Given the description of an element on the screen output the (x, y) to click on. 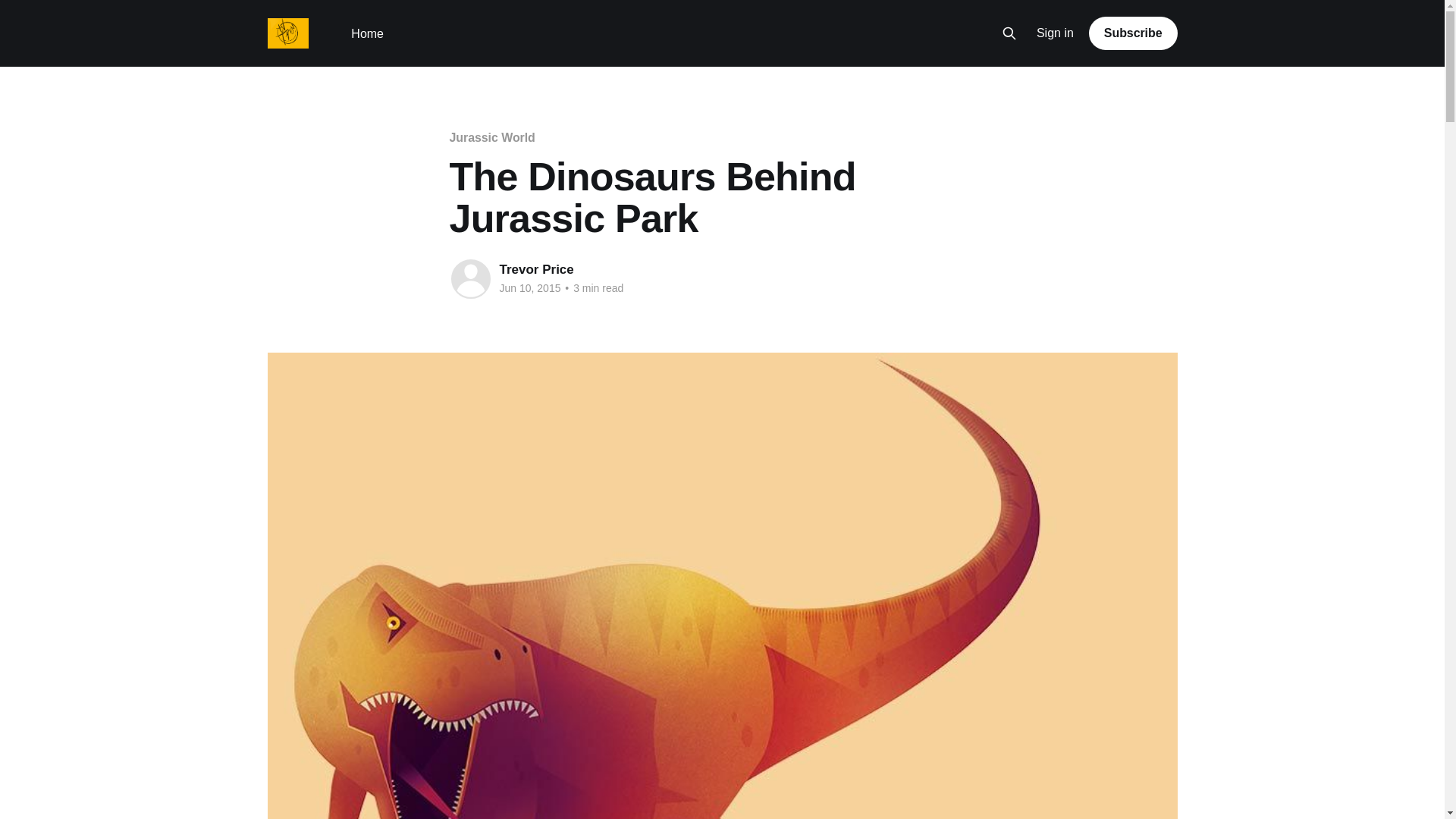
Subscribe (1133, 32)
Jurassic World (491, 137)
Home (367, 33)
Sign in (1055, 33)
Trevor Price (536, 269)
